Given the description of an element on the screen output the (x, y) to click on. 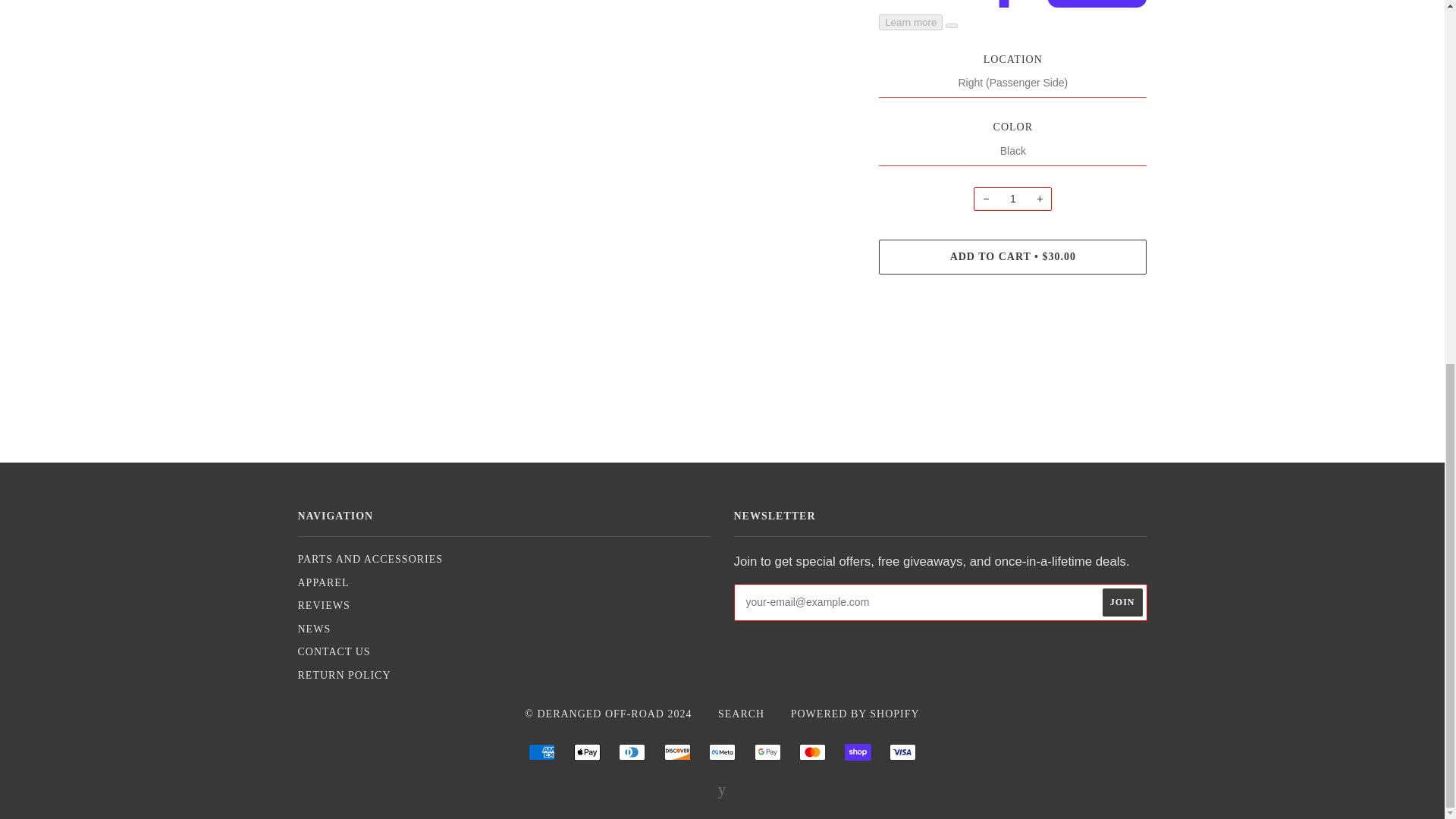
META PAY (722, 751)
VISA (902, 751)
DINERS CLUB (631, 751)
Join (1122, 602)
SHOP PAY (857, 751)
MASTERCARD (812, 751)
APPLE PAY (586, 751)
AMERICAN EXPRESS (541, 751)
DISCOVER (676, 751)
GOOGLE PAY (767, 751)
